Given the description of an element on the screen output the (x, y) to click on. 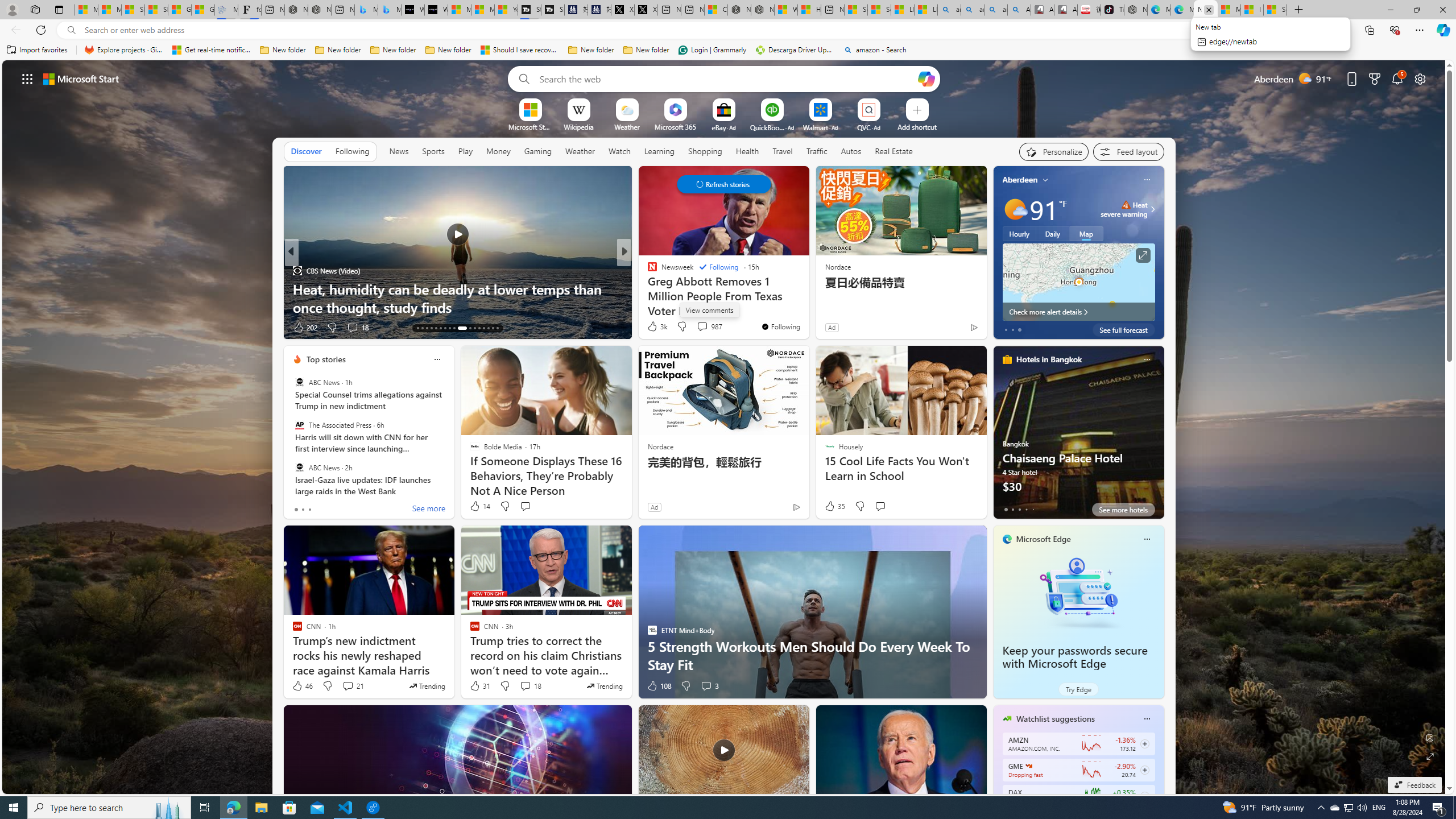
tab-0 (1005, 509)
79 Like (652, 327)
View comments 987 Comment (708, 326)
AutomationID: tab-25 (478, 328)
46 Like (301, 685)
The Associated Press (299, 424)
View comments 17 Comment (707, 327)
CBS News (Video) (296, 270)
View comments 85 Comment (704, 327)
Nordace - #1 Japanese Best-Seller - Siena Smart Backpack (319, 9)
Autos (851, 151)
AutomationID: tab-21 (454, 328)
Class: icon-img (1146, 718)
